Given the description of an element on the screen output the (x, y) to click on. 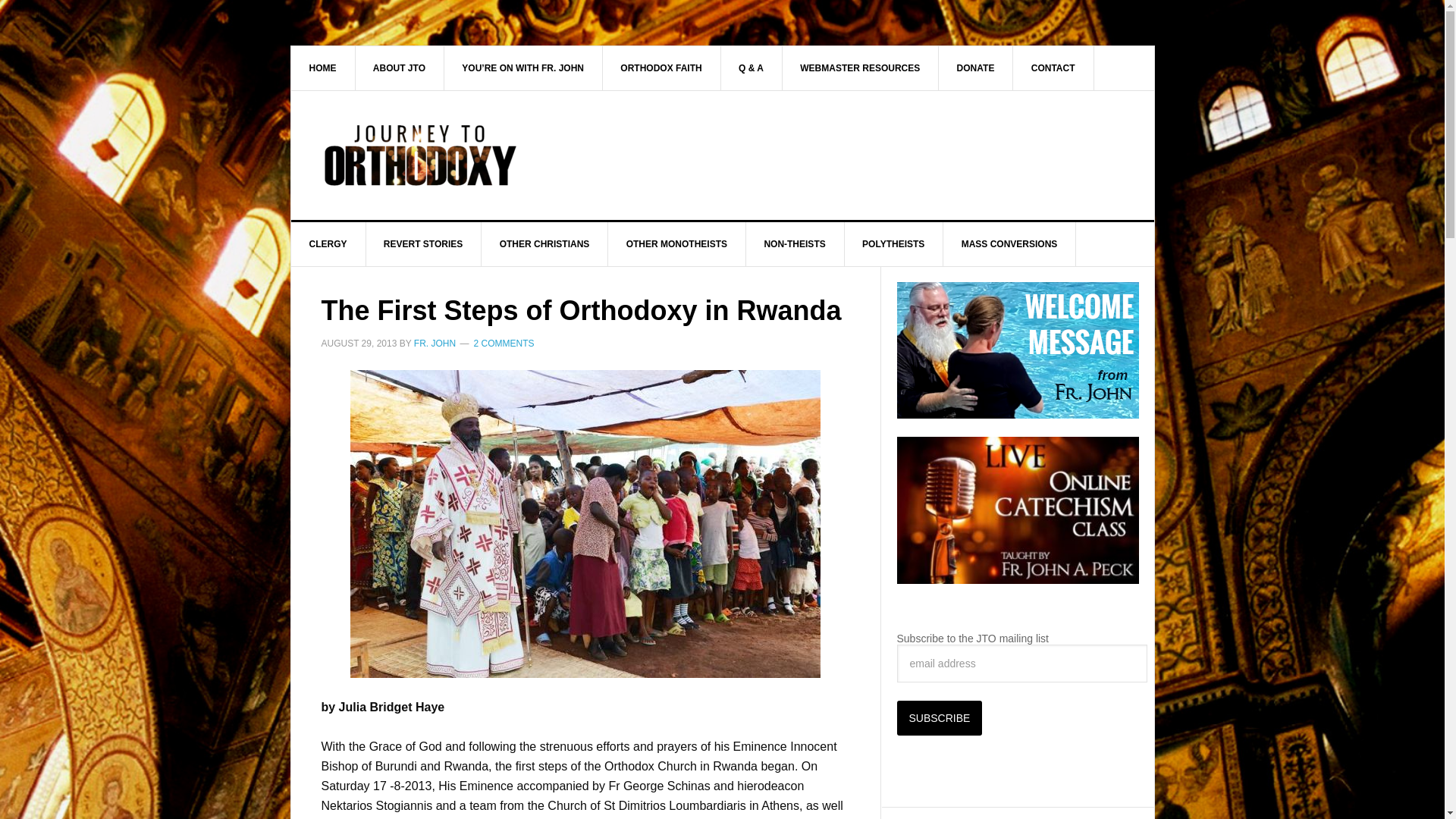
CONTACT (1053, 67)
OTHER MONOTHEISTS (676, 243)
JOURNEY TO ORTHODOXY (419, 155)
ABOUT JTO (399, 67)
HOME (323, 67)
ORTHODOX FAITH (661, 67)
DONATE (976, 67)
WEBMASTER RESOURCES (860, 67)
REVERT STORIES (423, 243)
OTHER CHRISTIANS (544, 243)
